Given the description of an element on the screen output the (x, y) to click on. 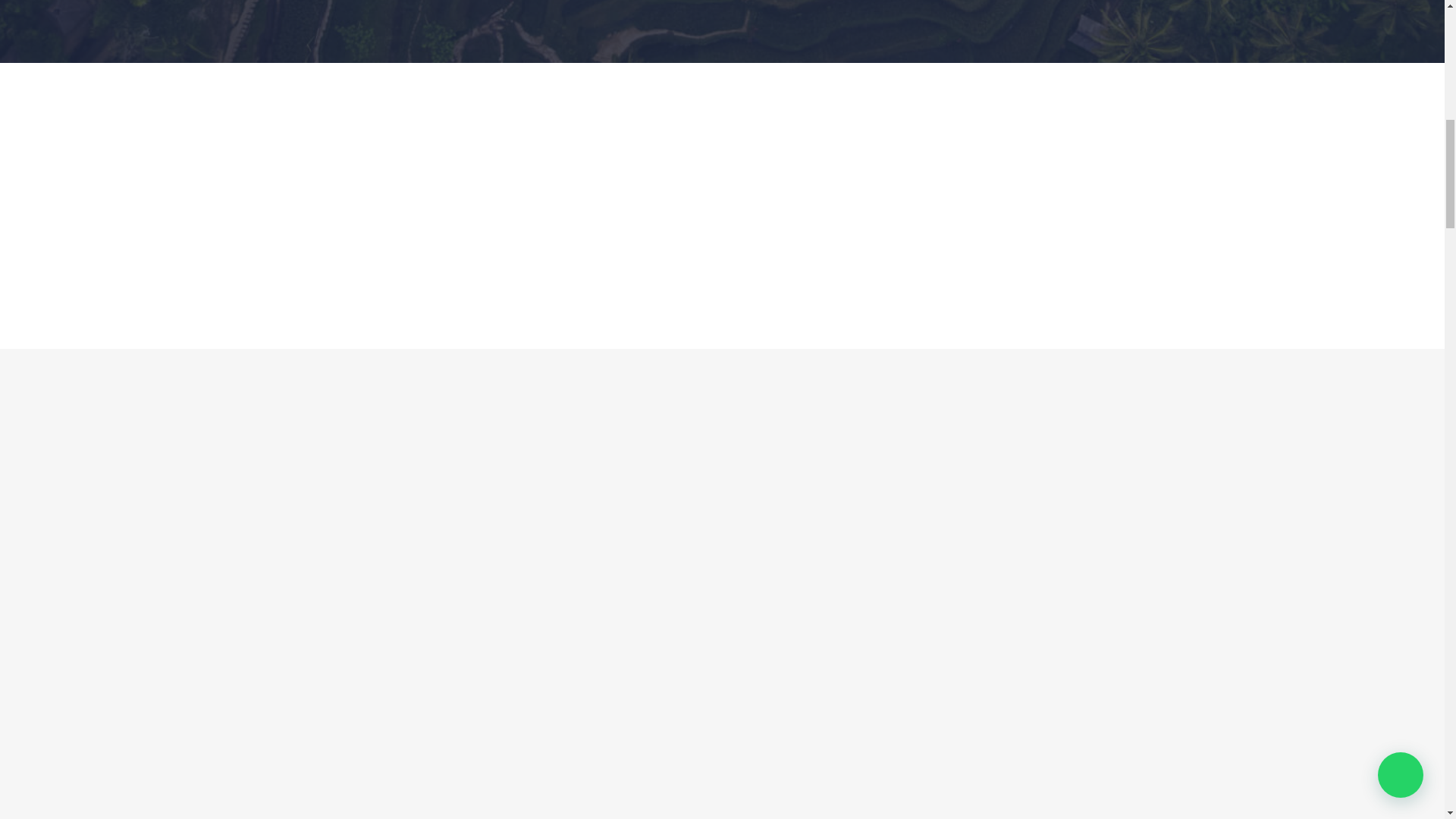
Marrakech City Tour (432, 376)
